Given the description of an element on the screen output the (x, y) to click on. 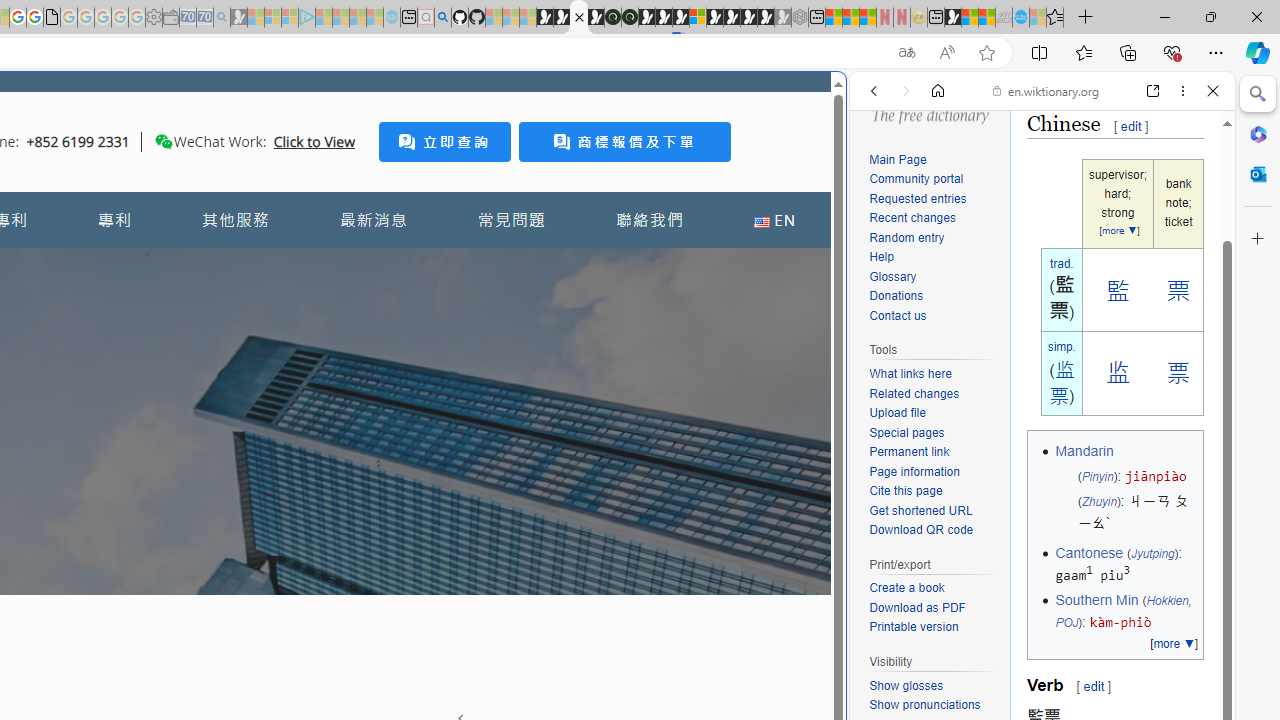
Class: desktop (163, 141)
SEARCH TOOLS (1093, 228)
Special pages (934, 433)
Search or enter web address (343, 191)
bank note; ticket (1178, 204)
Download as PDF (934, 608)
EN (774, 220)
